Given the description of an element on the screen output the (x, y) to click on. 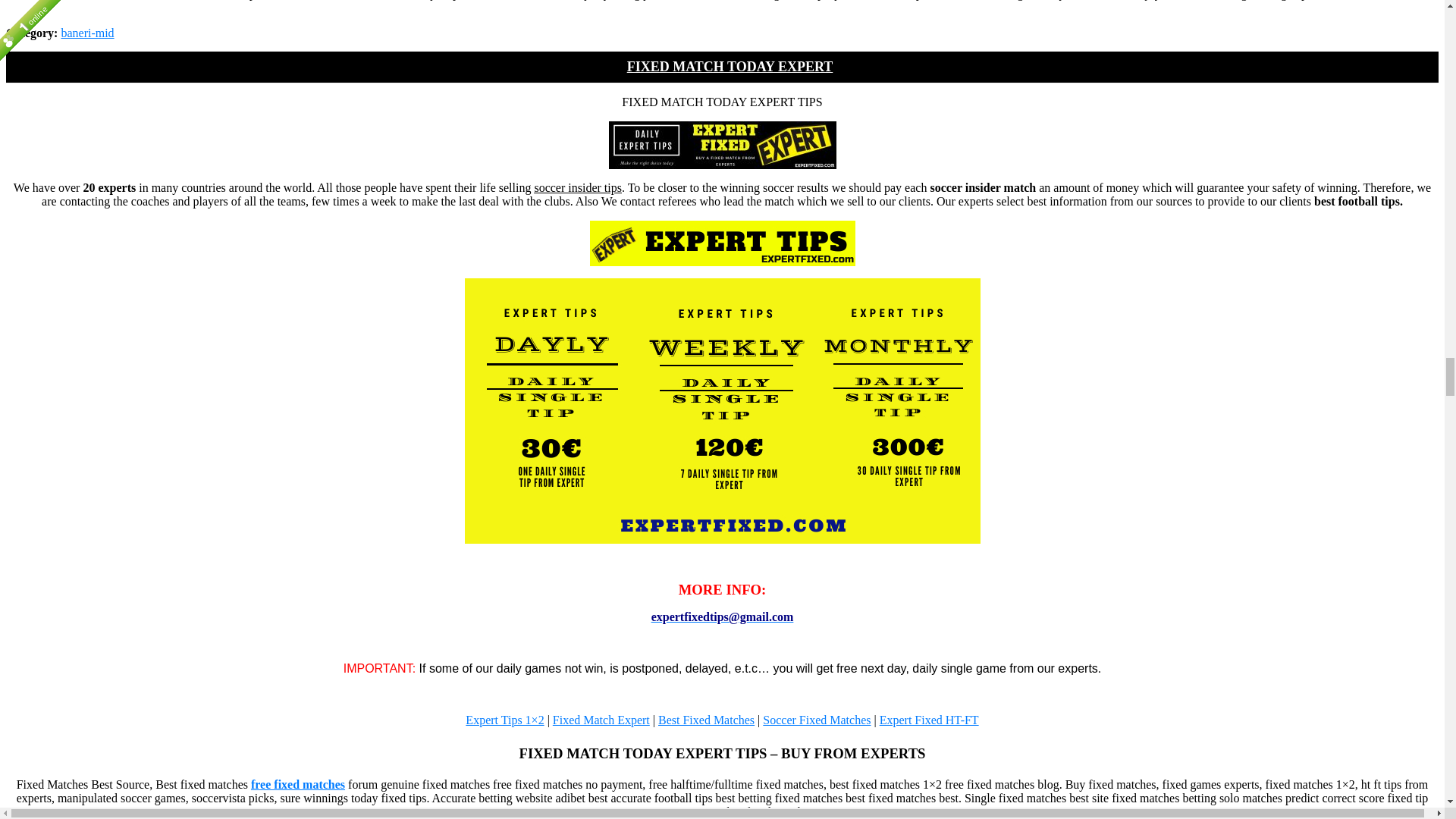
FIXED MATCH TODAY EXPERT TIPS (722, 243)
DAILY EXPERT TIPS (721, 144)
